Given the description of an element on the screen output the (x, y) to click on. 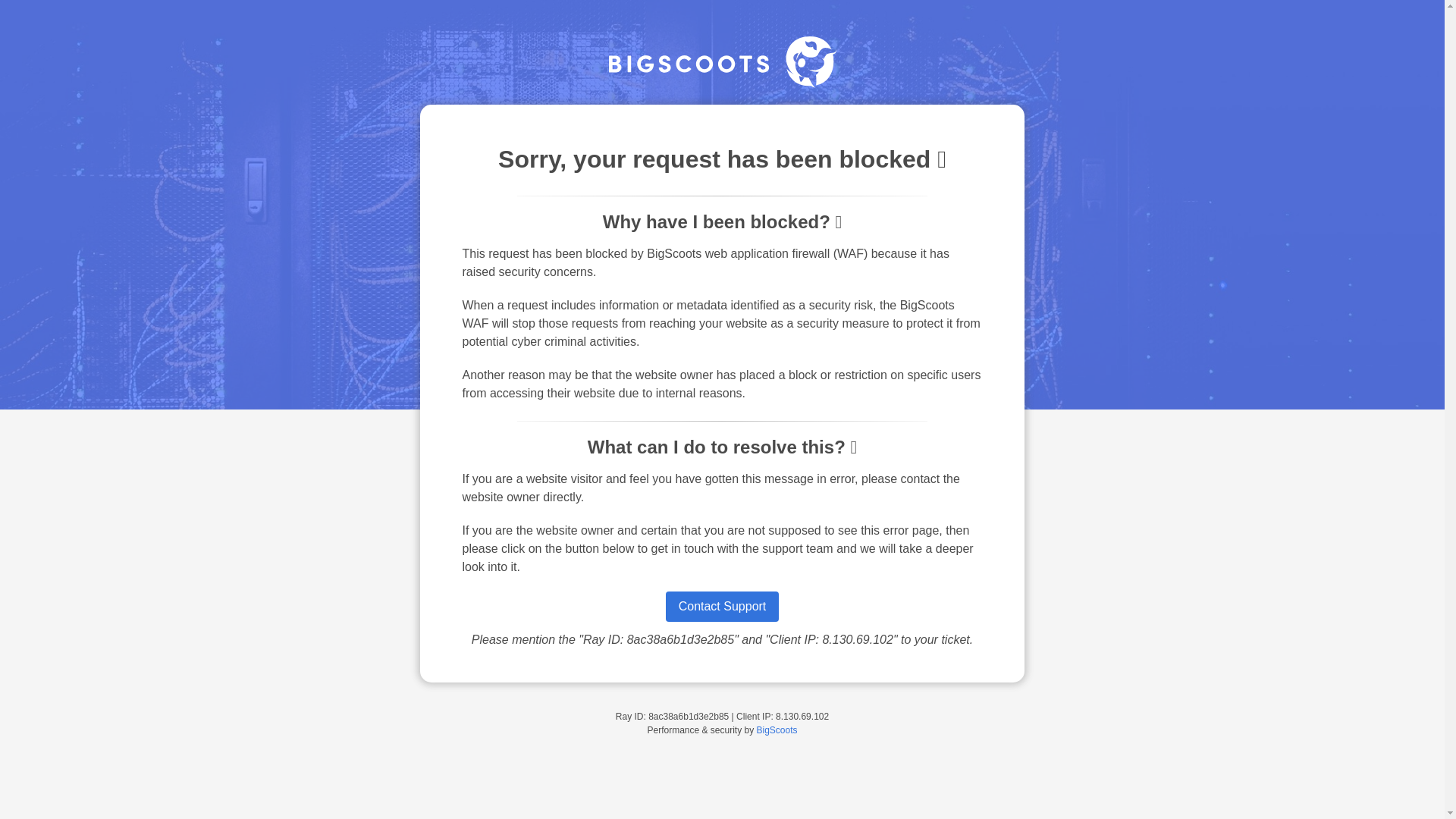
Contact Support (721, 606)
BigScoots (777, 729)
